Given the description of an element on the screen output the (x, y) to click on. 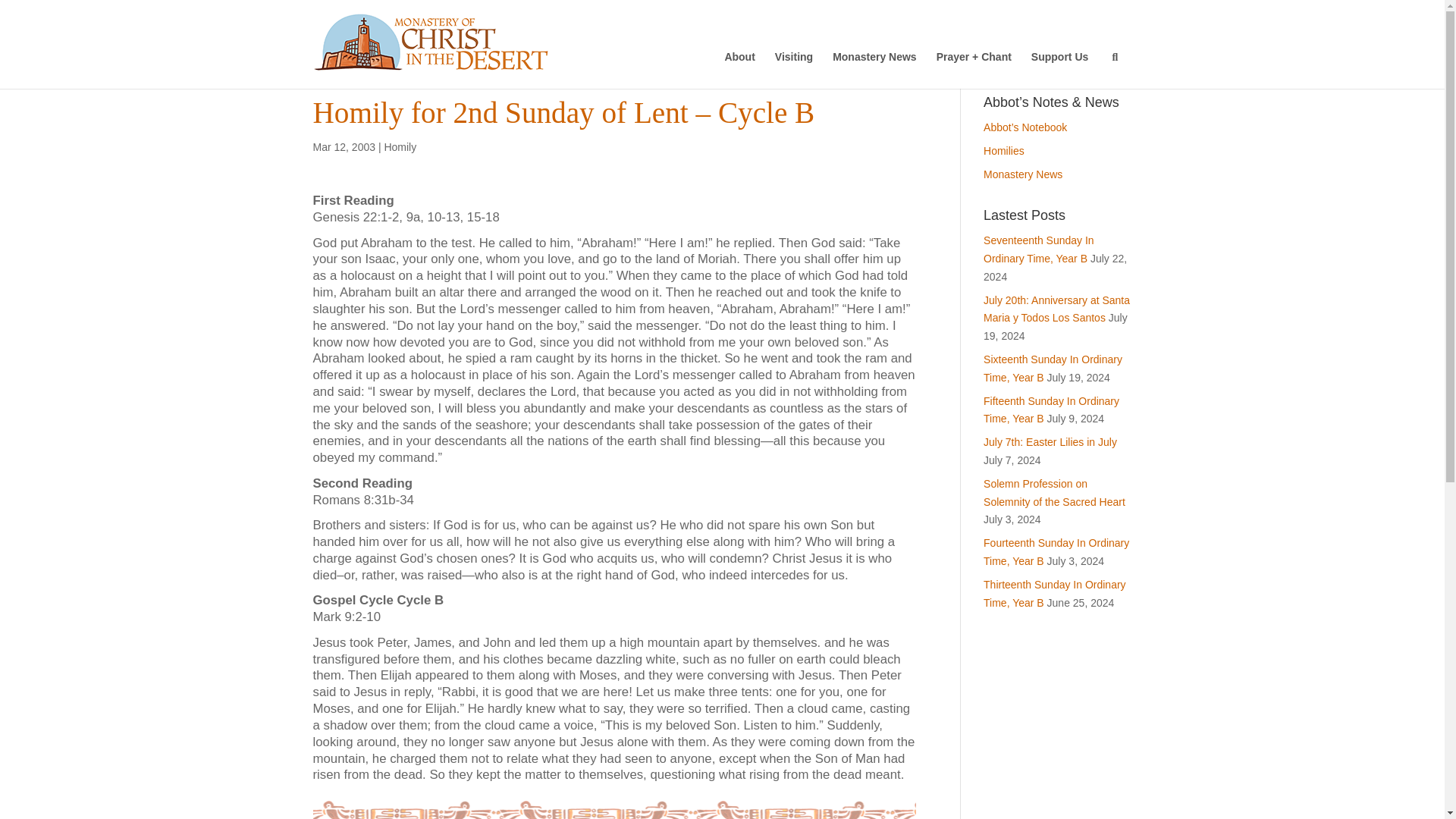
Monastery News (874, 63)
Visiting (793, 63)
About (739, 63)
